Given the description of an element on the screen output the (x, y) to click on. 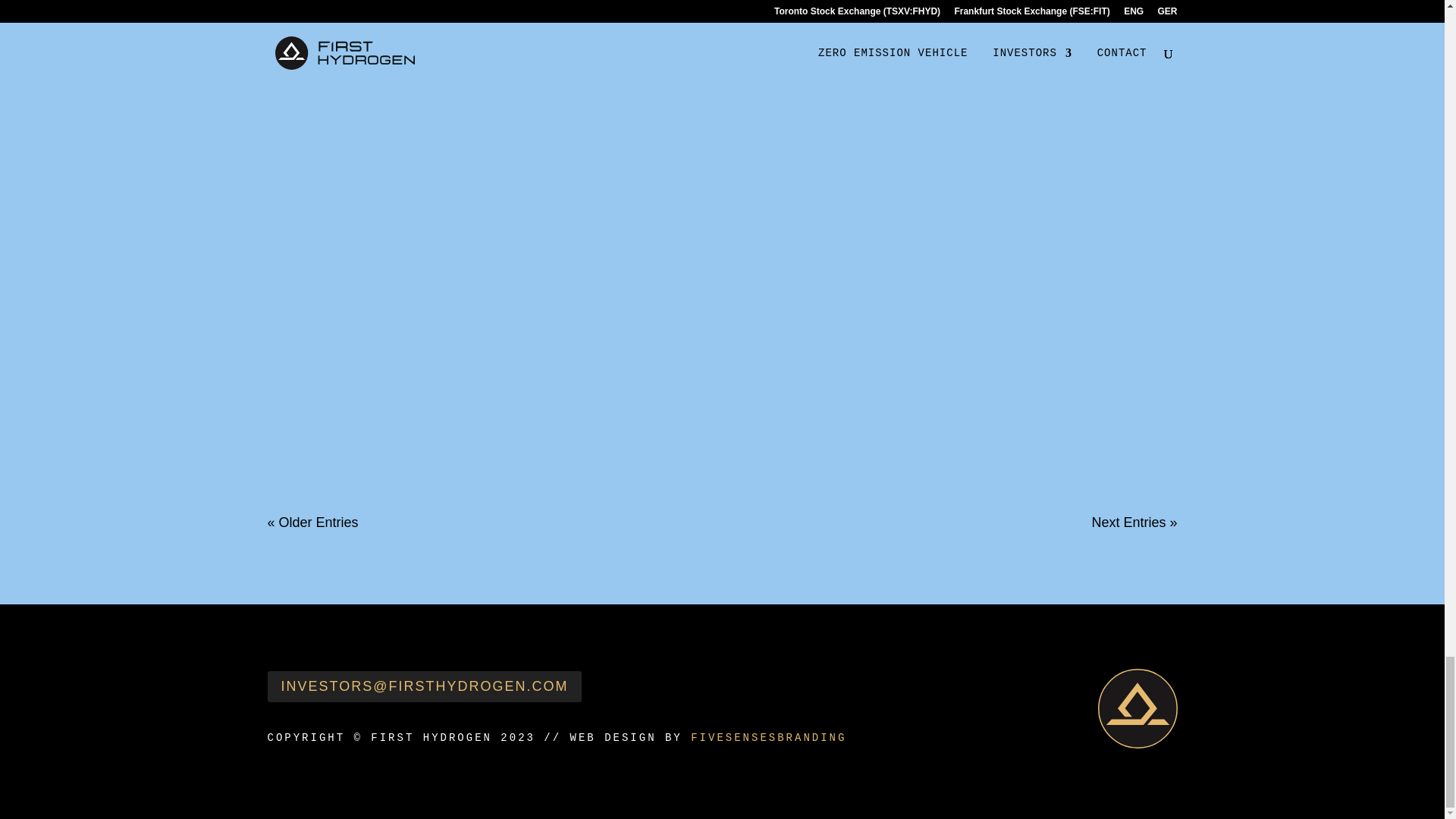
footer-icon (1137, 708)
FIVESENSESBRANDING (767, 737)
